Given the description of an element on the screen output the (x, y) to click on. 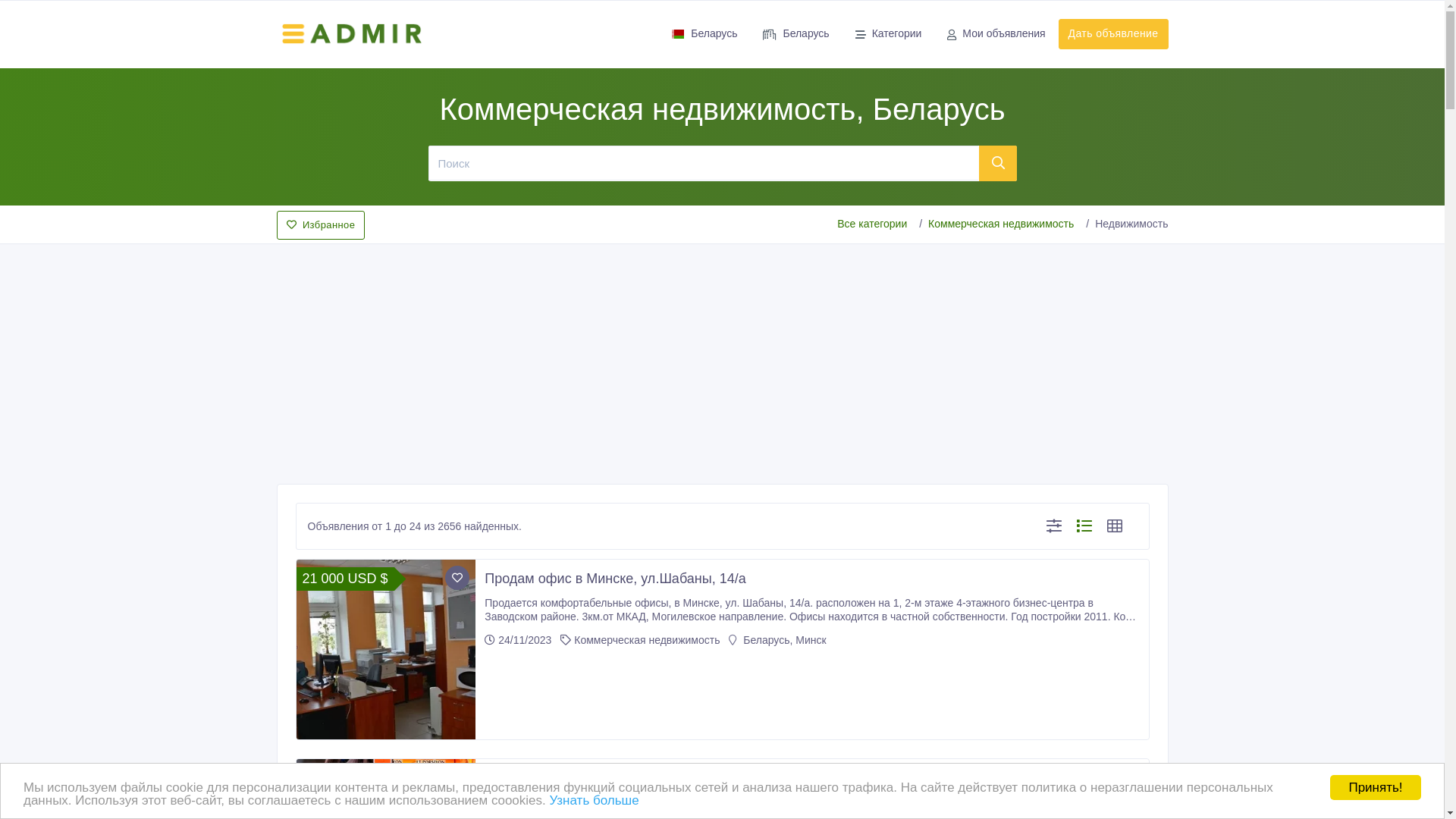
Advertisement Element type: hover (721, 359)
Add to favorite Element type: hover (457, 577)
Add to favorite Element type: hover (457, 777)
